Given the description of an element on the screen output the (x, y) to click on. 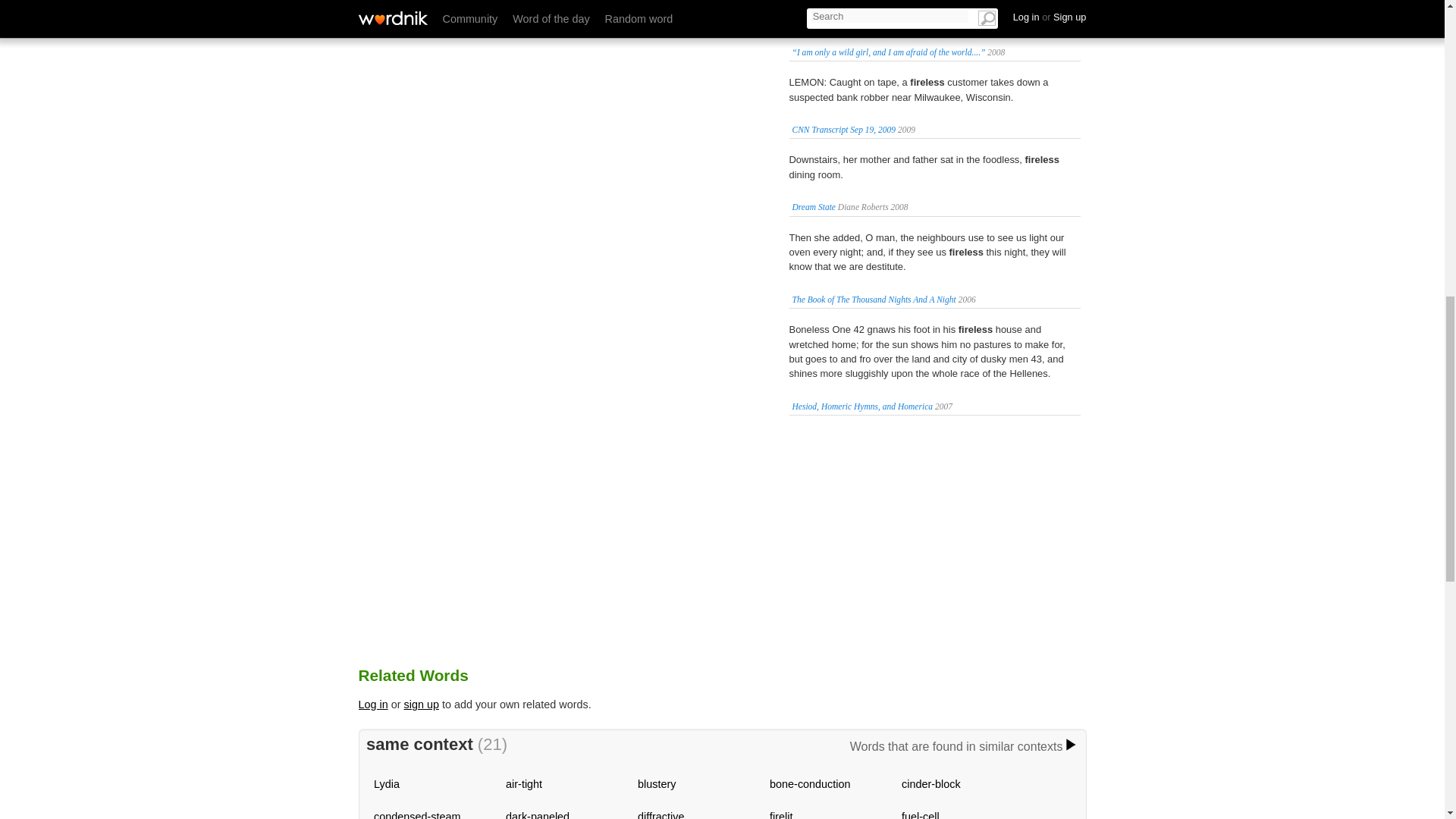
The Book of The Thousand Nights And A Night (873, 298)
cinder-block (930, 784)
air-tight (523, 784)
Dream State (813, 206)
Lydia (386, 784)
sign up (421, 704)
CNN Transcript Sep 19, 2009 (843, 129)
Hesiod, Homeric Hymns, and Homerica (862, 406)
condensed-steam (417, 814)
dark-paneled (537, 814)
